Given the description of an element on the screen output the (x, y) to click on. 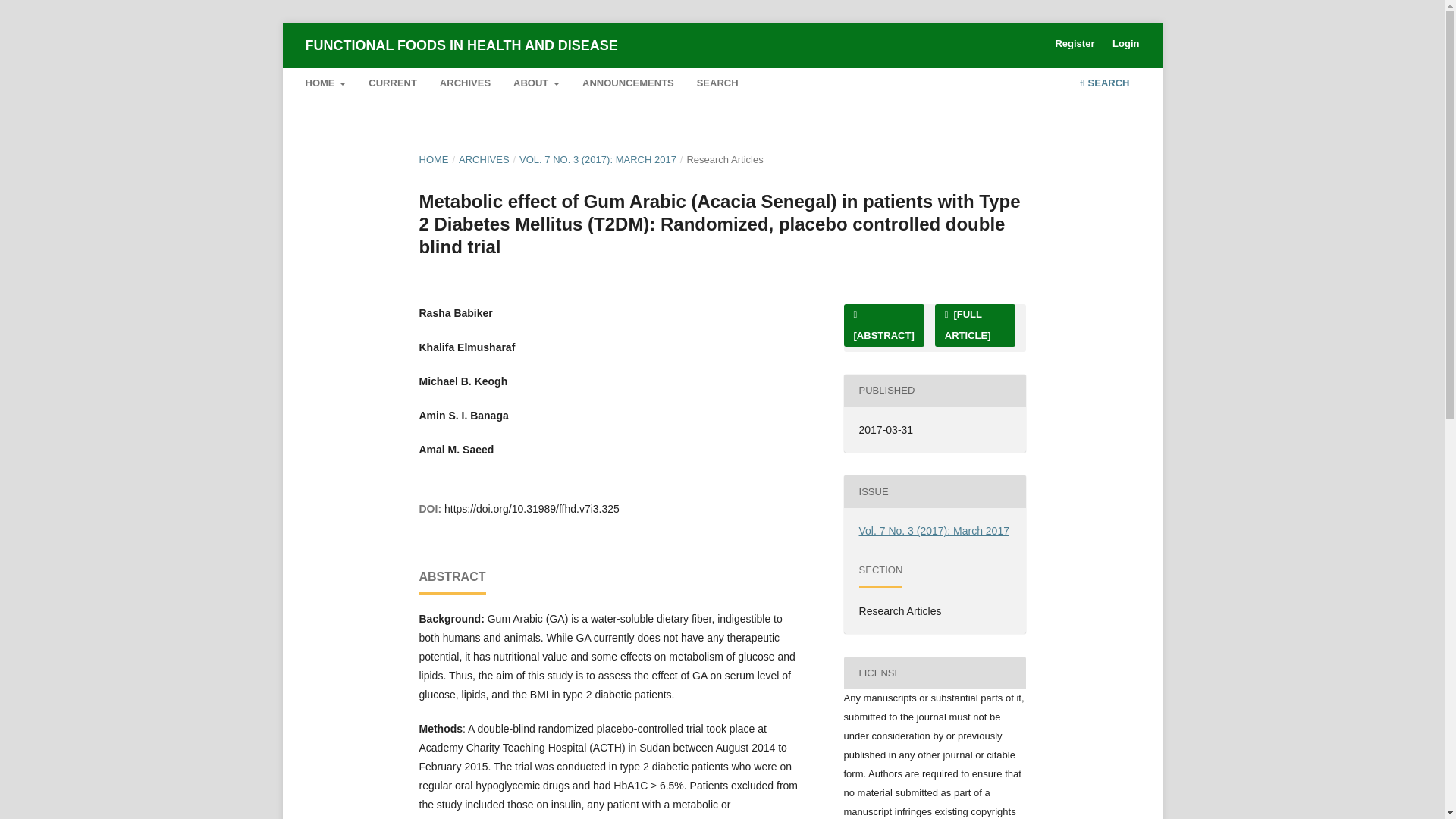
ARCHIVES (464, 85)
ABOUT (536, 85)
FUNCTIONAL FOODS IN HEALTH AND DISEASE (460, 45)
Register (1074, 43)
HOME (433, 159)
SEARCH (1104, 85)
CURRENT (393, 85)
ANNOUNCEMENTS (628, 85)
Login (1126, 43)
SEARCH (716, 85)
HOME (324, 85)
ARCHIVES (483, 159)
